Given the description of an element on the screen output the (x, y) to click on. 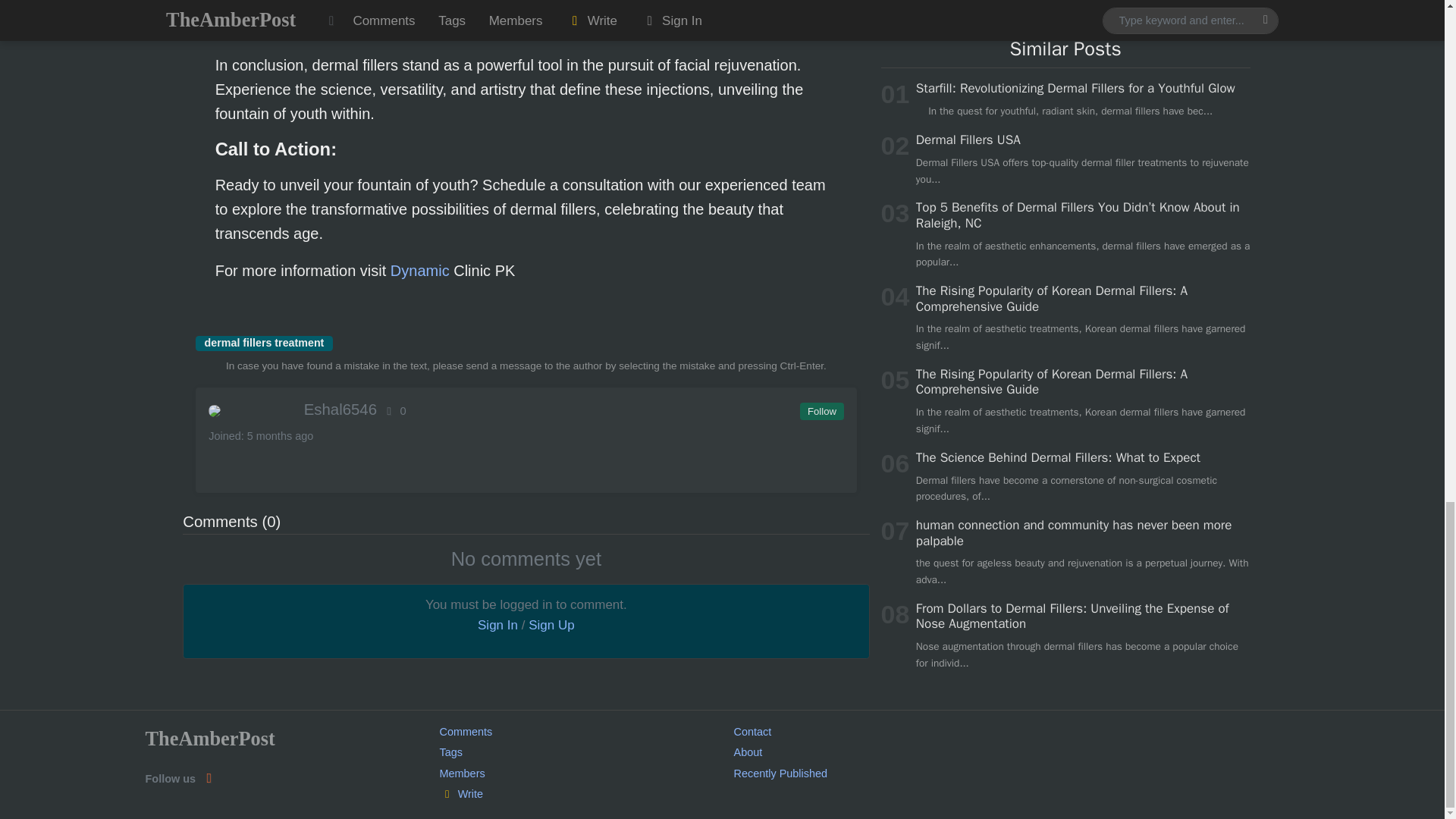
Rating (393, 410)
Sign In (497, 625)
dermal fillers treatment (264, 343)
Eshal6546 0 (525, 409)
Dynamic (419, 270)
dermal fillers treatment (264, 343)
Follow (821, 411)
Sign Up (550, 625)
